Given the description of an element on the screen output the (x, y) to click on. 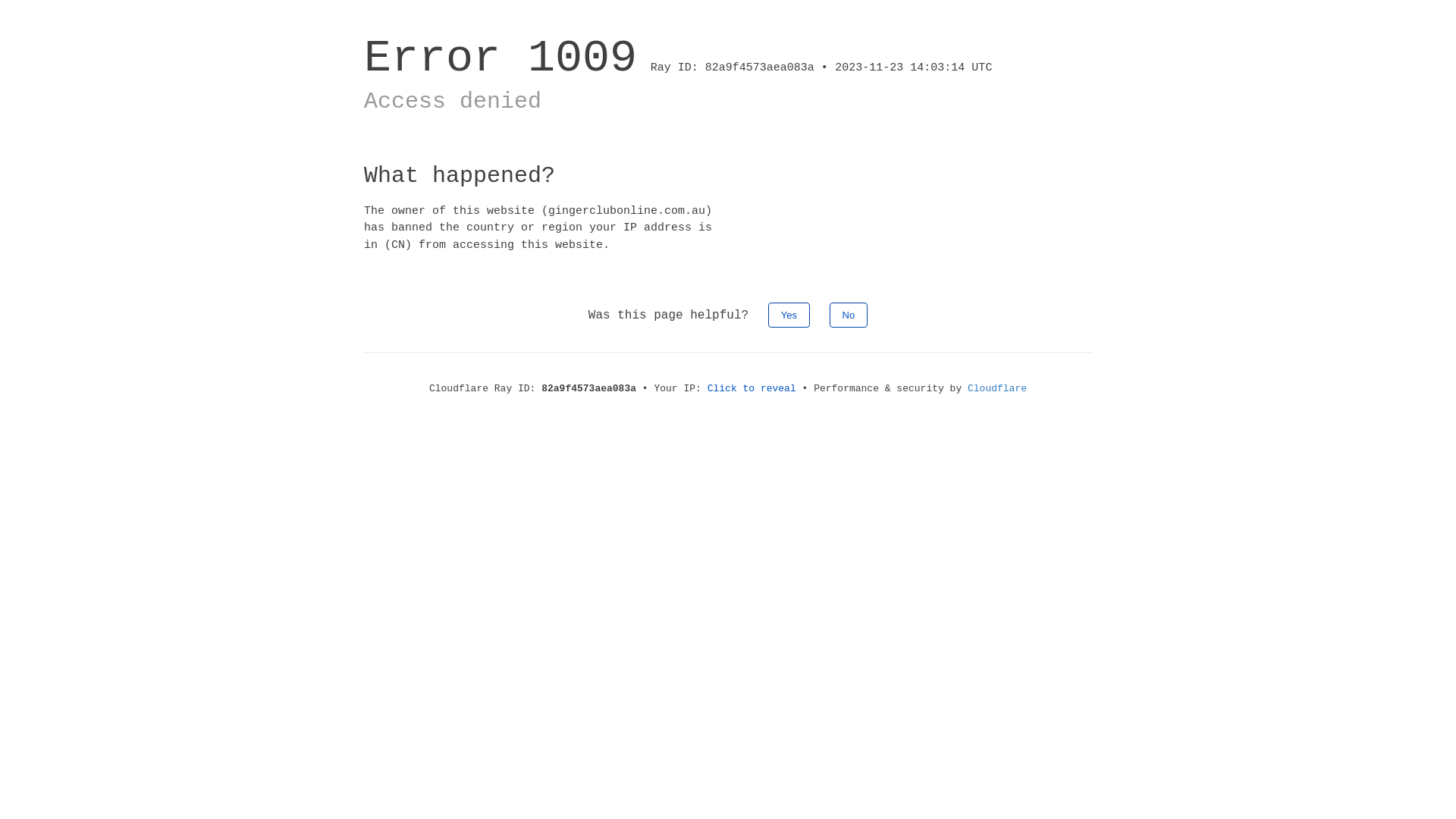
No Element type: text (848, 314)
Cloudflare Element type: text (996, 388)
Yes Element type: text (788, 314)
Click to reveal Element type: text (751, 388)
